Given the description of an element on the screen output the (x, y) to click on. 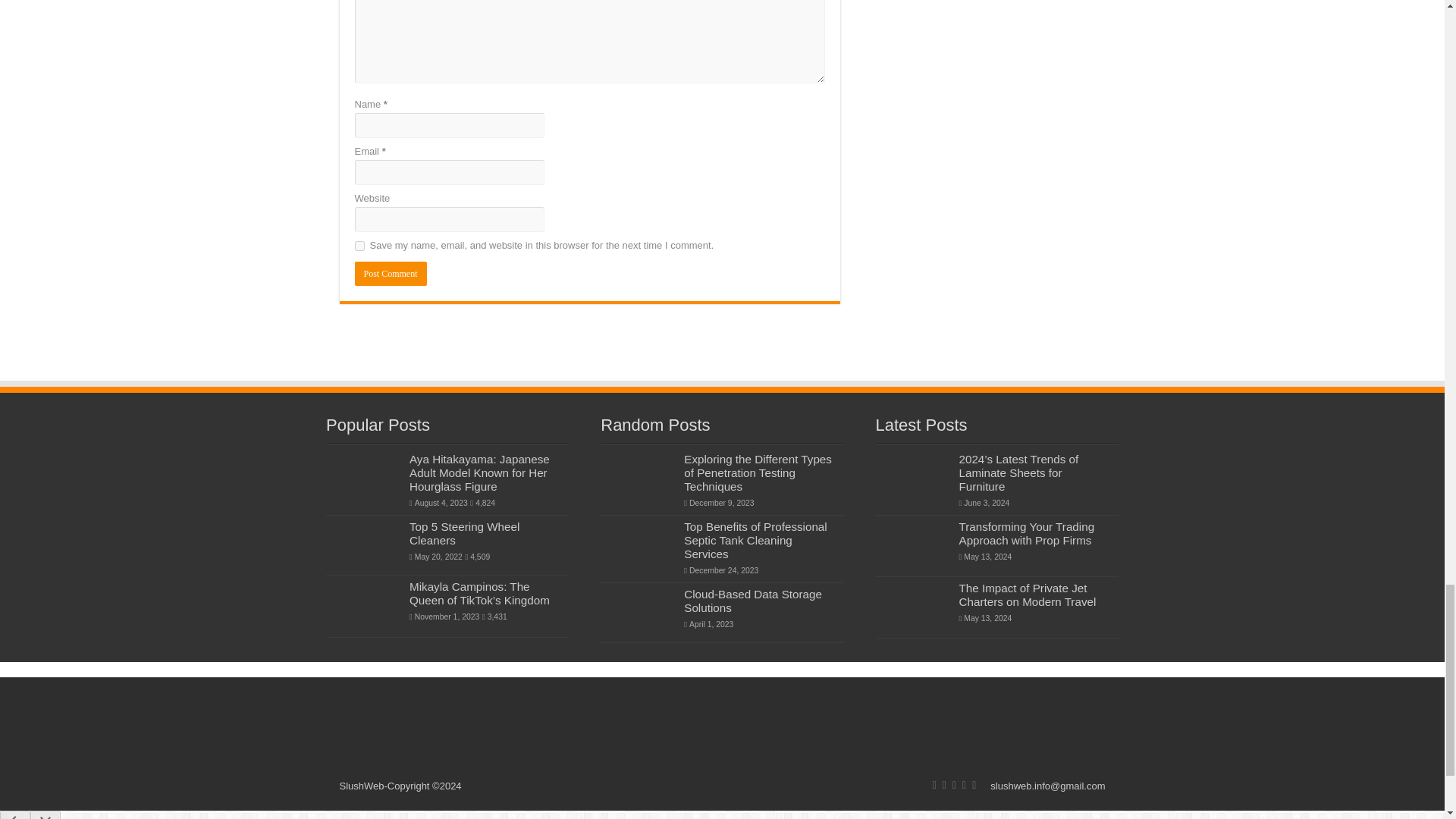
yes (360, 245)
Post Comment (390, 273)
